Given the description of an element on the screen output the (x, y) to click on. 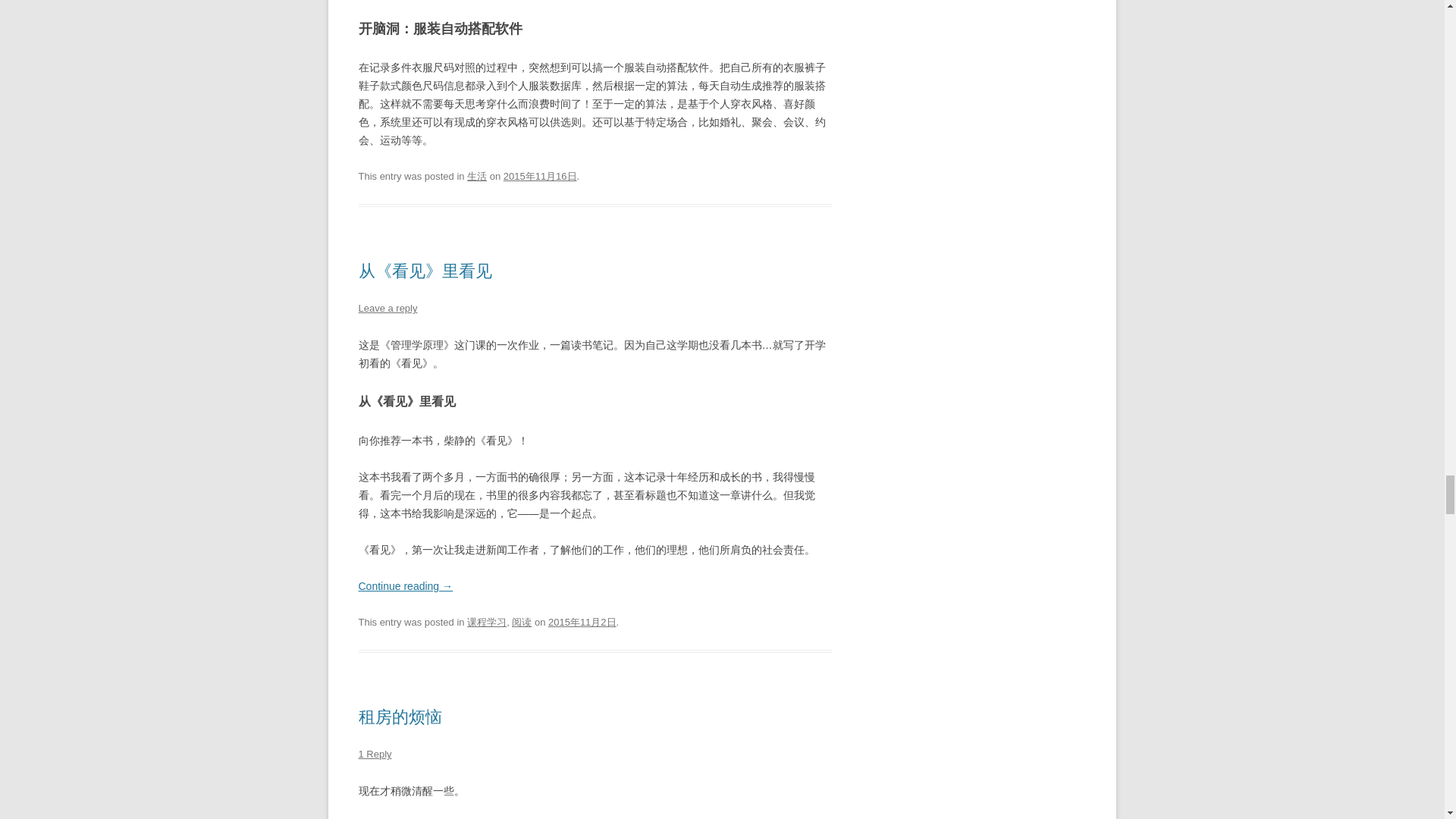
am12:35 (539, 175)
pm6:36 (581, 622)
